Given the description of an element on the screen output the (x, y) to click on. 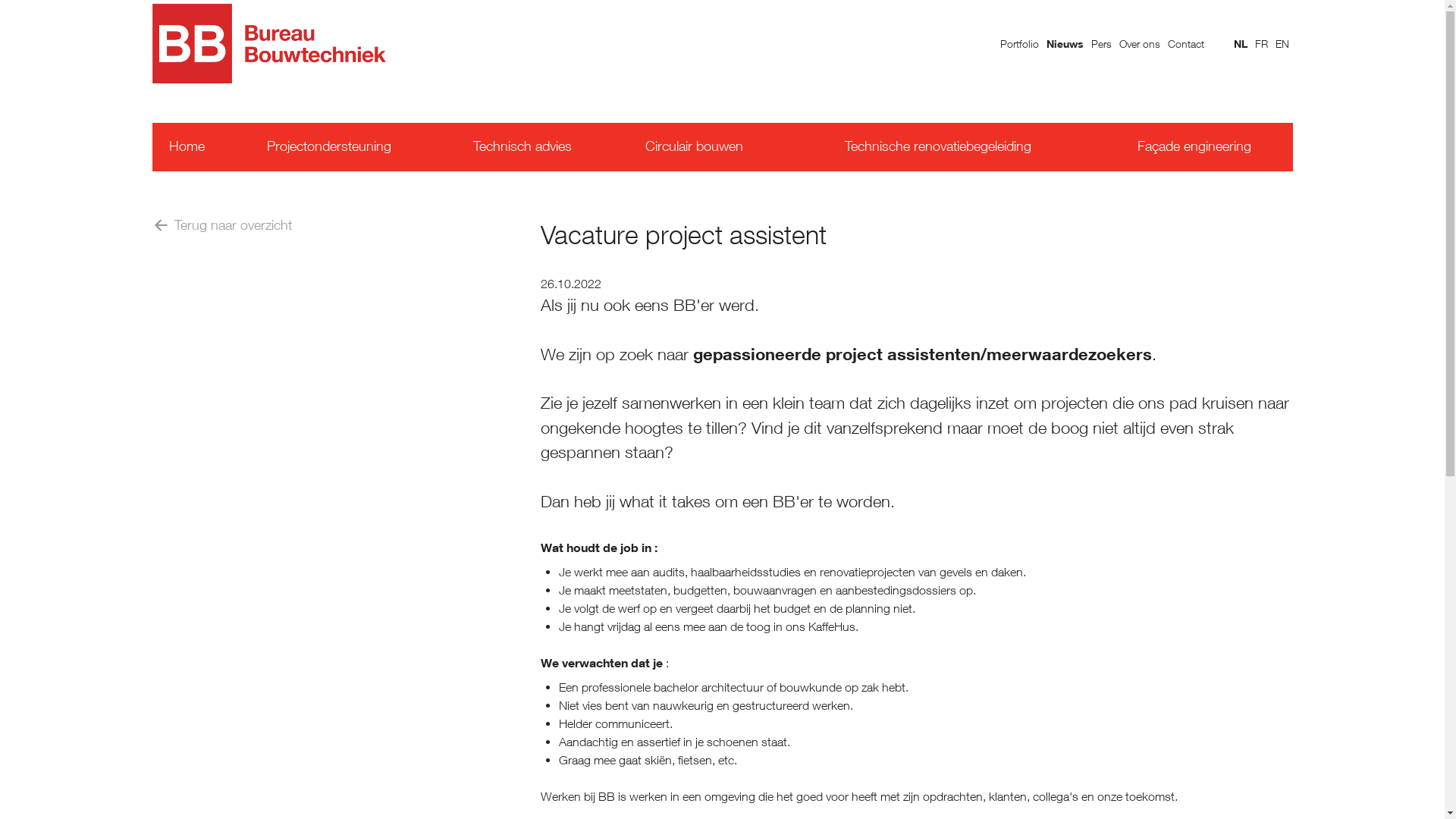
Technische renovatiebegeleiding Element type: text (937, 146)
Over ons Element type: text (1139, 43)
Circulair bouwen Element type: text (694, 146)
EN Element type: text (1281, 43)
Pers Element type: text (1101, 43)
Portfolio Element type: text (1019, 43)
Technisch advies Element type: text (522, 146)
Projectondersteuning Element type: text (328, 146)
Home Element type: text (186, 146)
NL Element type: text (1240, 43)
Nieuws Element type: text (1064, 43)
FR Element type: text (1261, 43)
Contact Element type: text (1186, 43)
Terug naar overzicht Element type: text (221, 224)
